Given the description of an element on the screen output the (x, y) to click on. 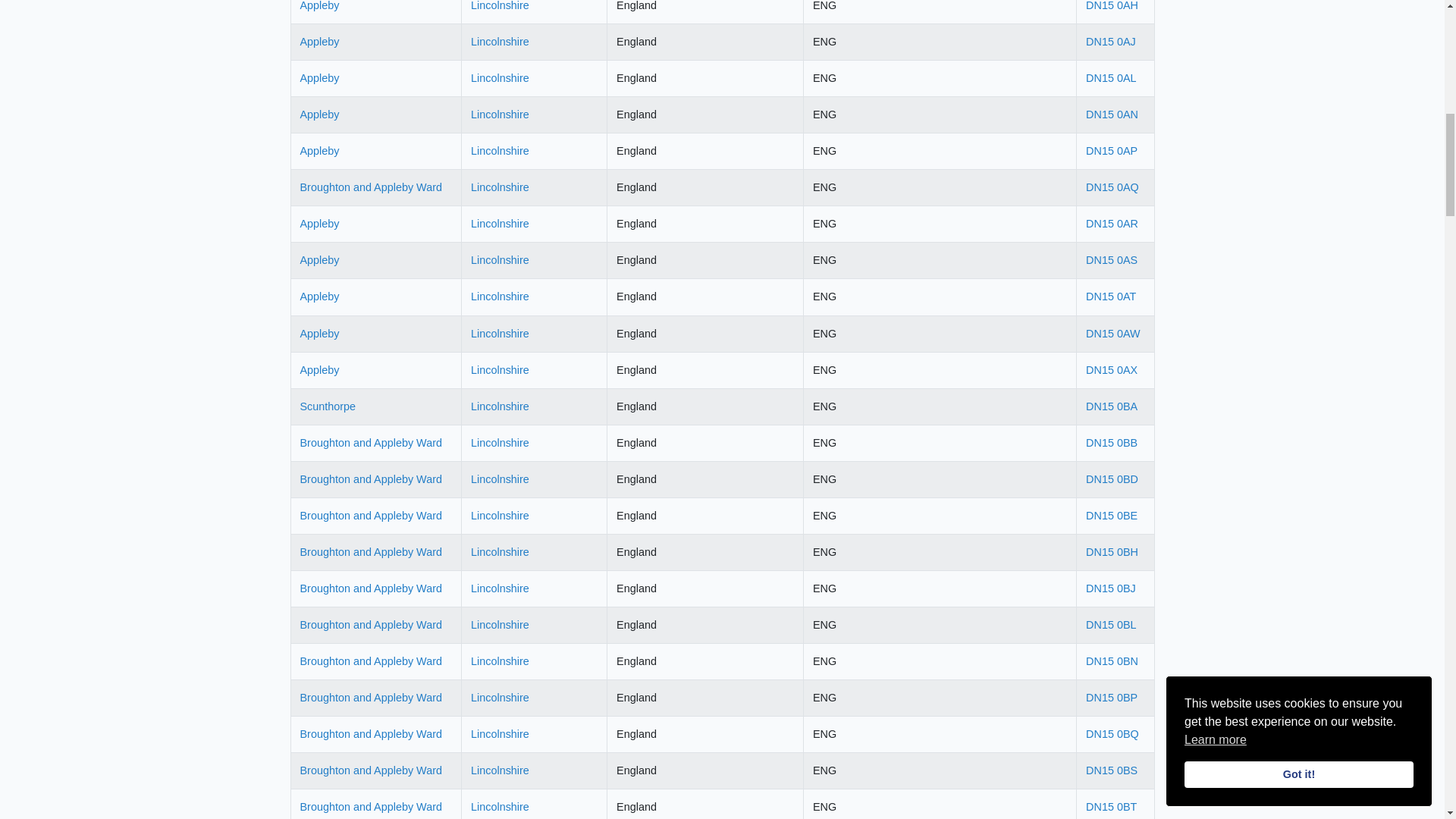
Appleby (319, 41)
DN15 0AH (1112, 5)
Appleby (319, 150)
DN15 0AJ (1110, 41)
Lincolnshire (499, 186)
Appleby (319, 114)
Lincolnshire (499, 114)
Lincolnshire (499, 150)
DN15 0AN (1112, 114)
Appleby (319, 5)
Lincolnshire (499, 5)
Broughton and Appleby Ward (370, 186)
Lincolnshire (499, 41)
DN15 0AP (1111, 150)
DN15 0AQ (1112, 186)
